Given the description of an element on the screen output the (x, y) to click on. 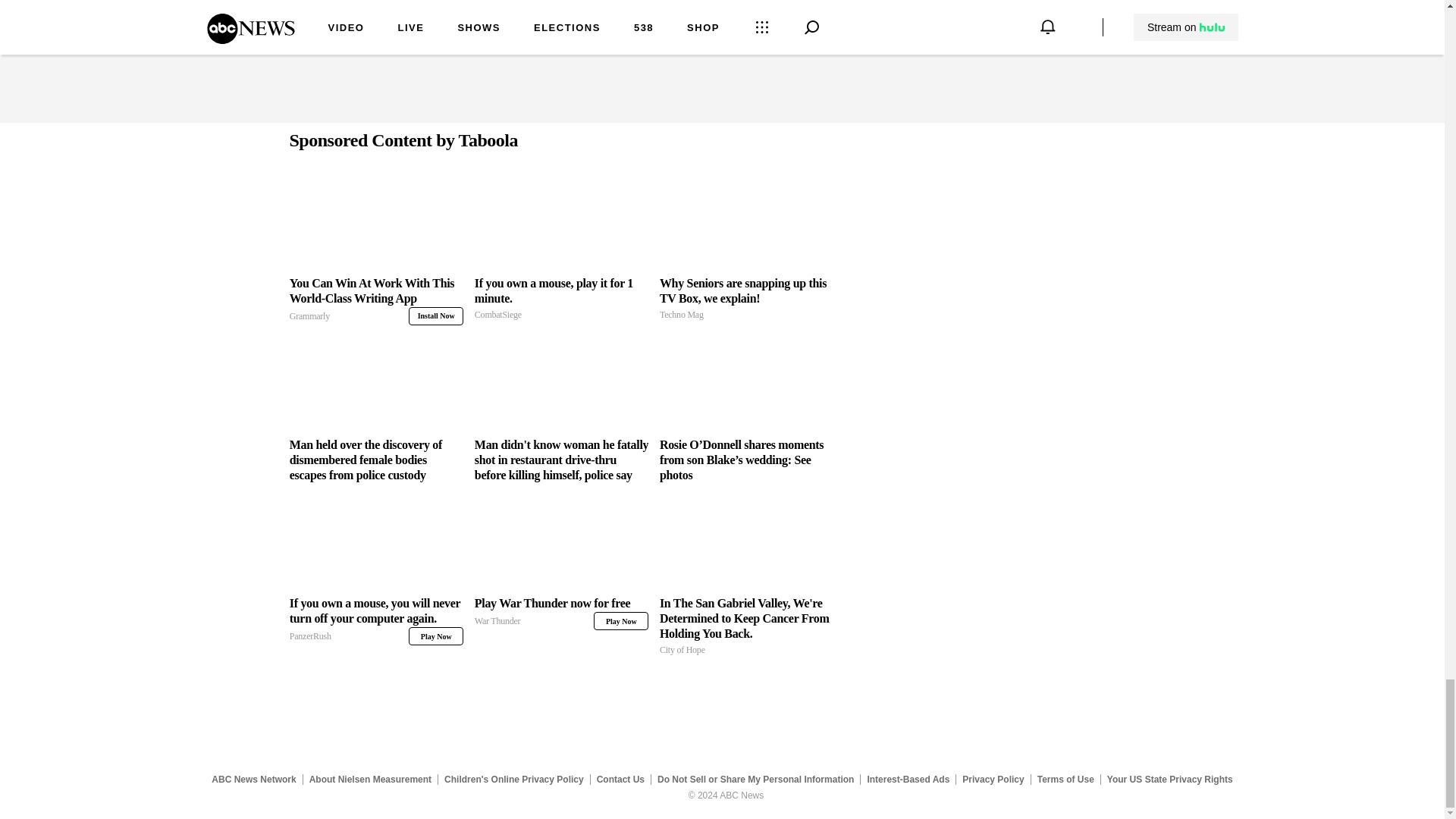
Play War Thunder now for free (560, 299)
You Can Win At Work With This World-Class Writing App (560, 543)
Play War Thunder now for free (376, 222)
